Given the description of an element on the screen output the (x, y) to click on. 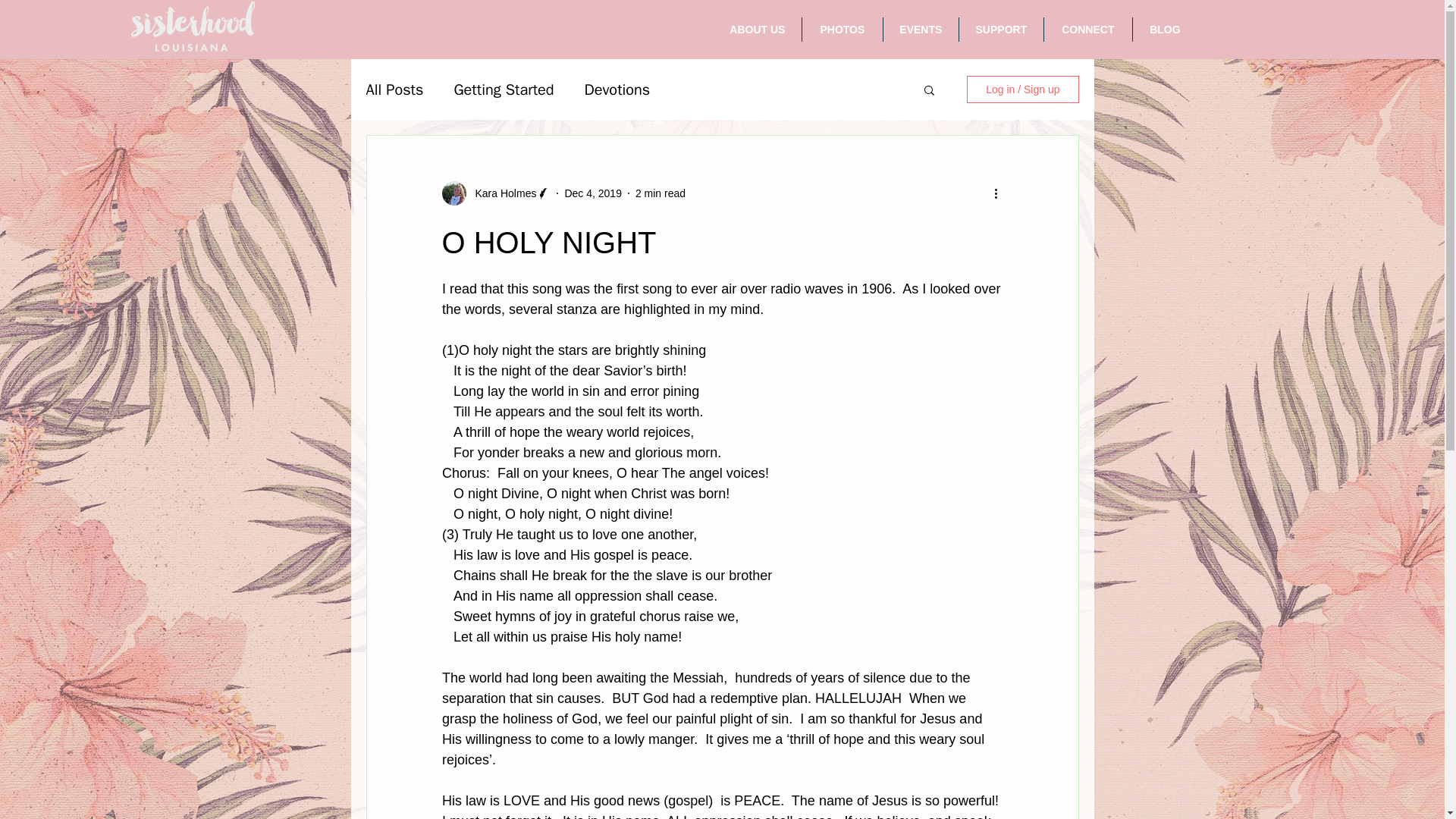
Kara Holmes (495, 192)
EVENTS (920, 29)
PHOTOS (842, 29)
BLOG (1164, 29)
ABOUT US (757, 29)
All Posts (394, 88)
CONNECT (1087, 29)
Kara Holmes (500, 192)
Dec 4, 2019 (592, 192)
Getting Started (502, 88)
SUPPORT (1001, 29)
2 min read (659, 192)
Devotions (617, 88)
